Given the description of an element on the screen output the (x, y) to click on. 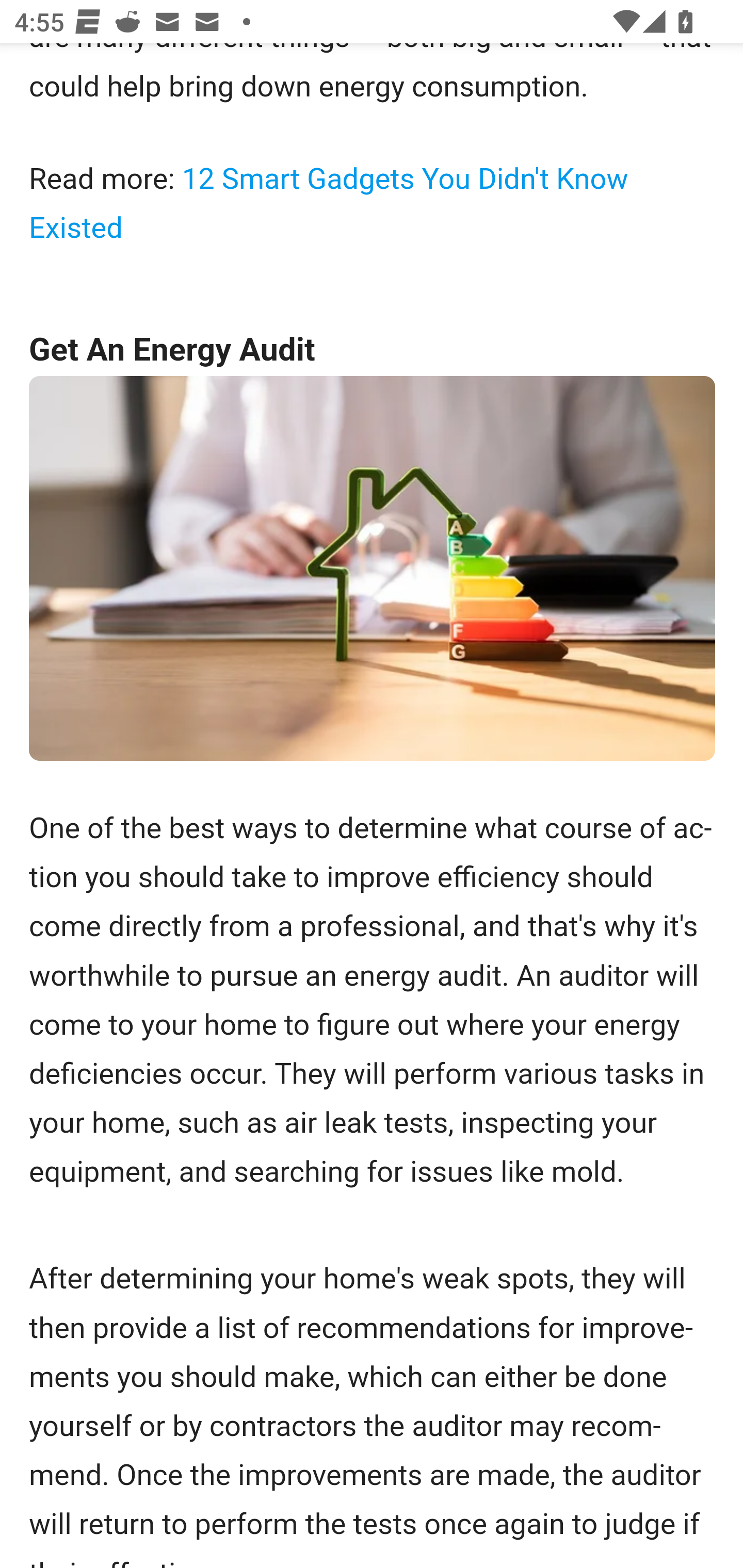
12 Smart Gadgets You Didn't Know Existed (329, 204)
